Given the description of an element on the screen output the (x, y) to click on. 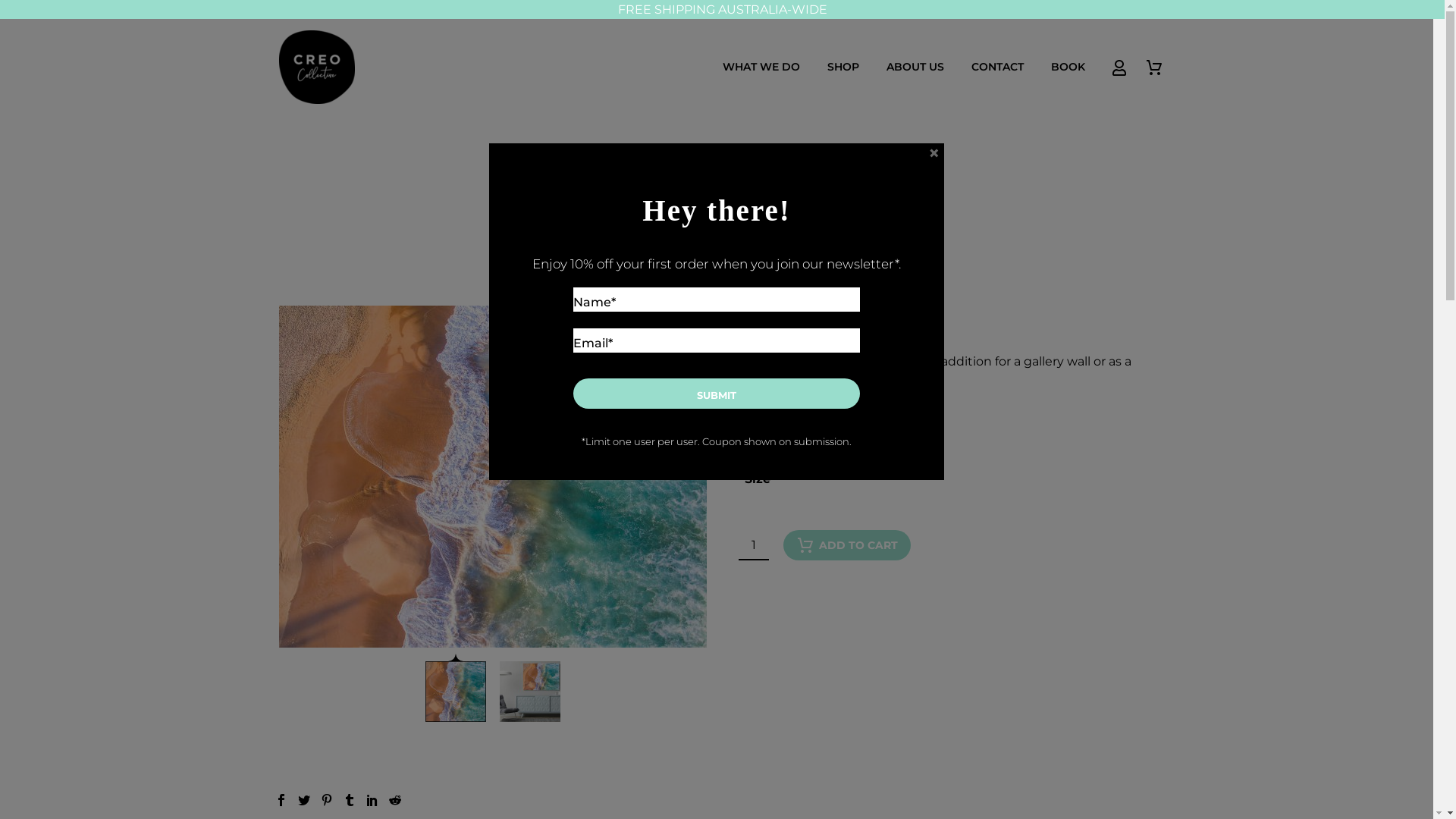
WHAT WE DO Element type: text (761, 66)
Tumblr Element type: hover (348, 799)
Qty Element type: hover (753, 545)
Twitter Element type: hover (303, 799)
Facebook Element type: hover (280, 799)
Pinterest Element type: hover (326, 799)
SHOP Element type: text (842, 66)
BOOK Element type: text (1066, 66)
ABOUT US Element type: text (915, 66)
LinkedIn Element type: hover (371, 799)
Reddit Element type: hover (394, 799)
Submit Element type: text (716, 393)
ADD TO CART Element type: text (846, 545)
CONTACT Element type: text (997, 66)
